Given the description of an element on the screen output the (x, y) to click on. 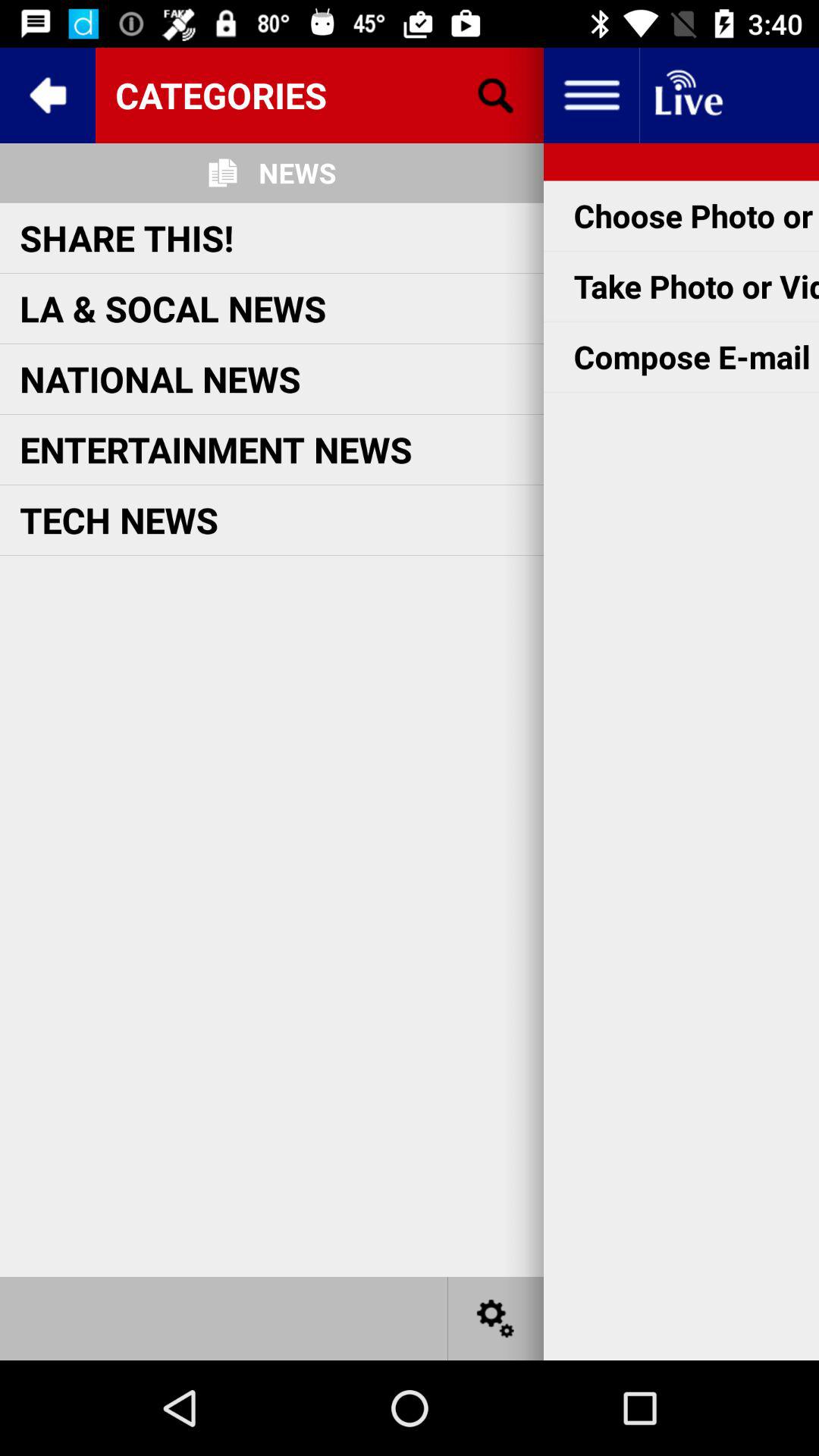
he can activate the simple voice command (495, 1318)
